Given the description of an element on the screen output the (x, y) to click on. 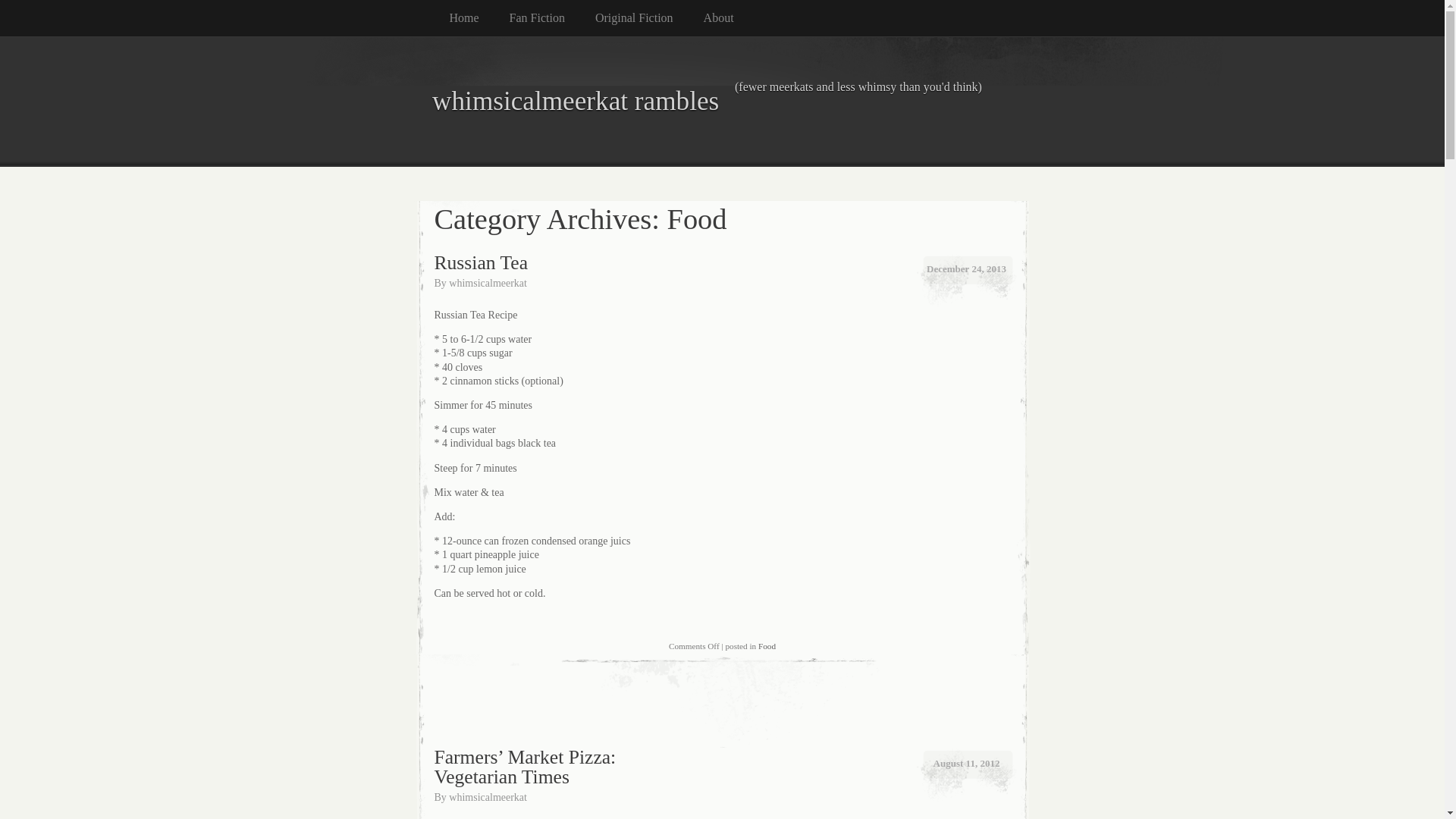
December 24, 2013 (966, 269)
About (733, 18)
View all posts by whimsicalmeerkat (487, 797)
whimsicalmeerkat (487, 283)
Permalink to Russian Tea (480, 262)
August 11, 2012 (966, 763)
Food (767, 645)
Fan Fiction (552, 18)
whimsicalmeerkat rambles (722, 100)
View all posts by whimsicalmeerkat (487, 283)
